Given the description of an element on the screen output the (x, y) to click on. 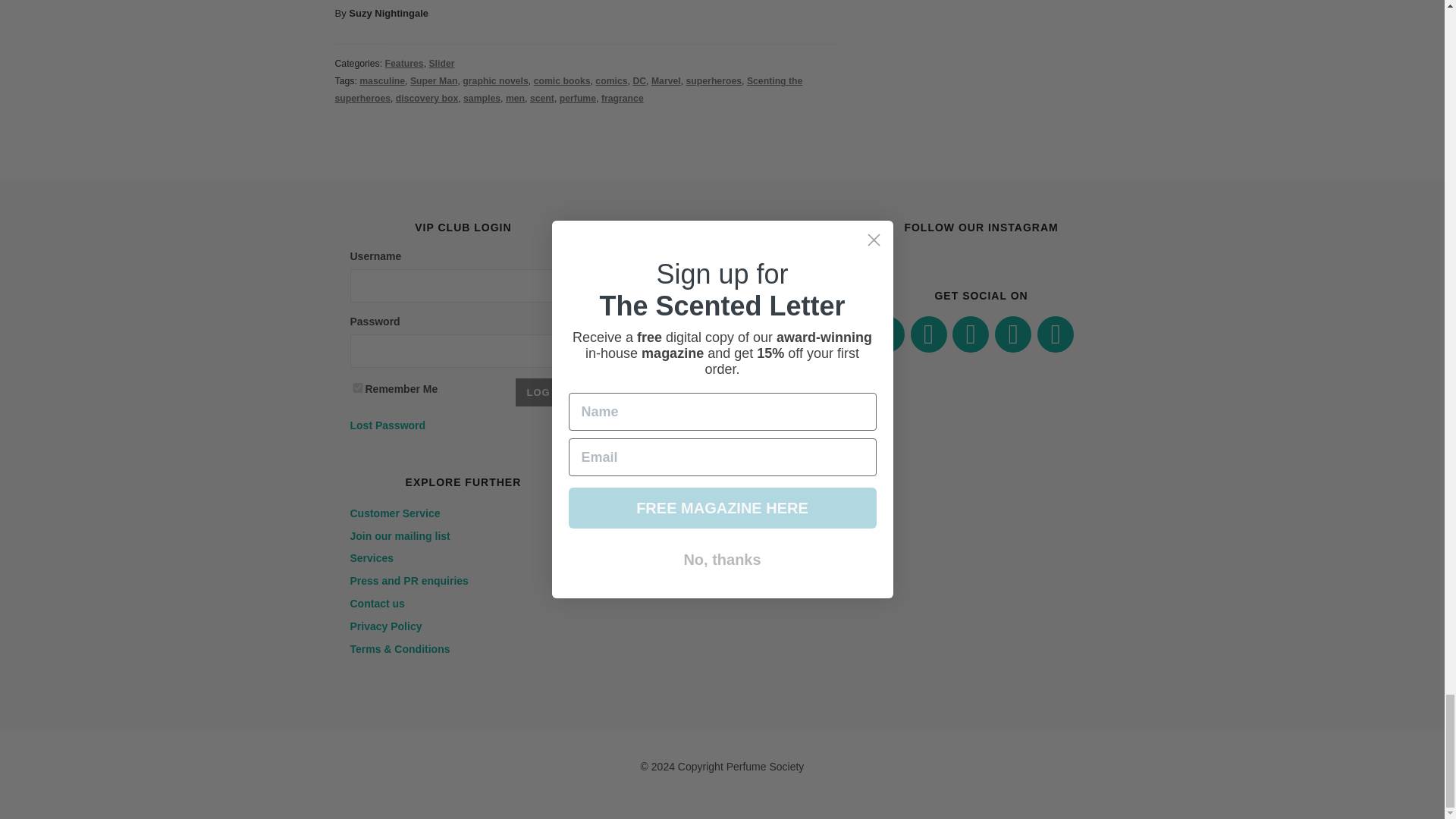
Log In (545, 391)
forever (357, 387)
